Given the description of an element on the screen output the (x, y) to click on. 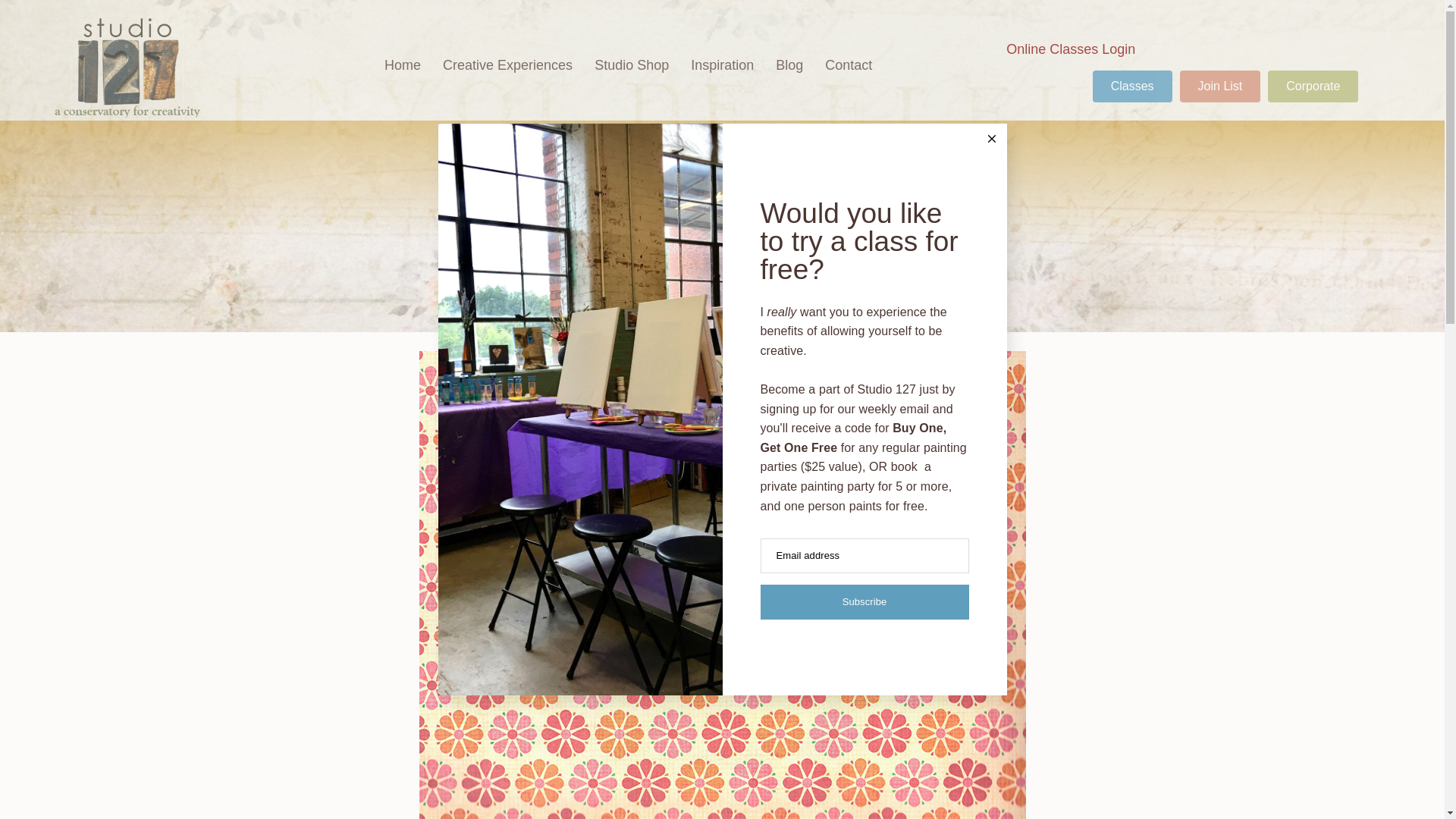
Classes (1132, 86)
Contact (847, 65)
Studio 127 stamp logo web (124, 65)
Creative Experiences (507, 73)
Join List (1219, 86)
Studio Shop (631, 66)
Inspiration (721, 66)
Blog (789, 65)
Login (1118, 48)
Home (402, 76)
Corporate (1313, 86)
